Given the description of an element on the screen output the (x, y) to click on. 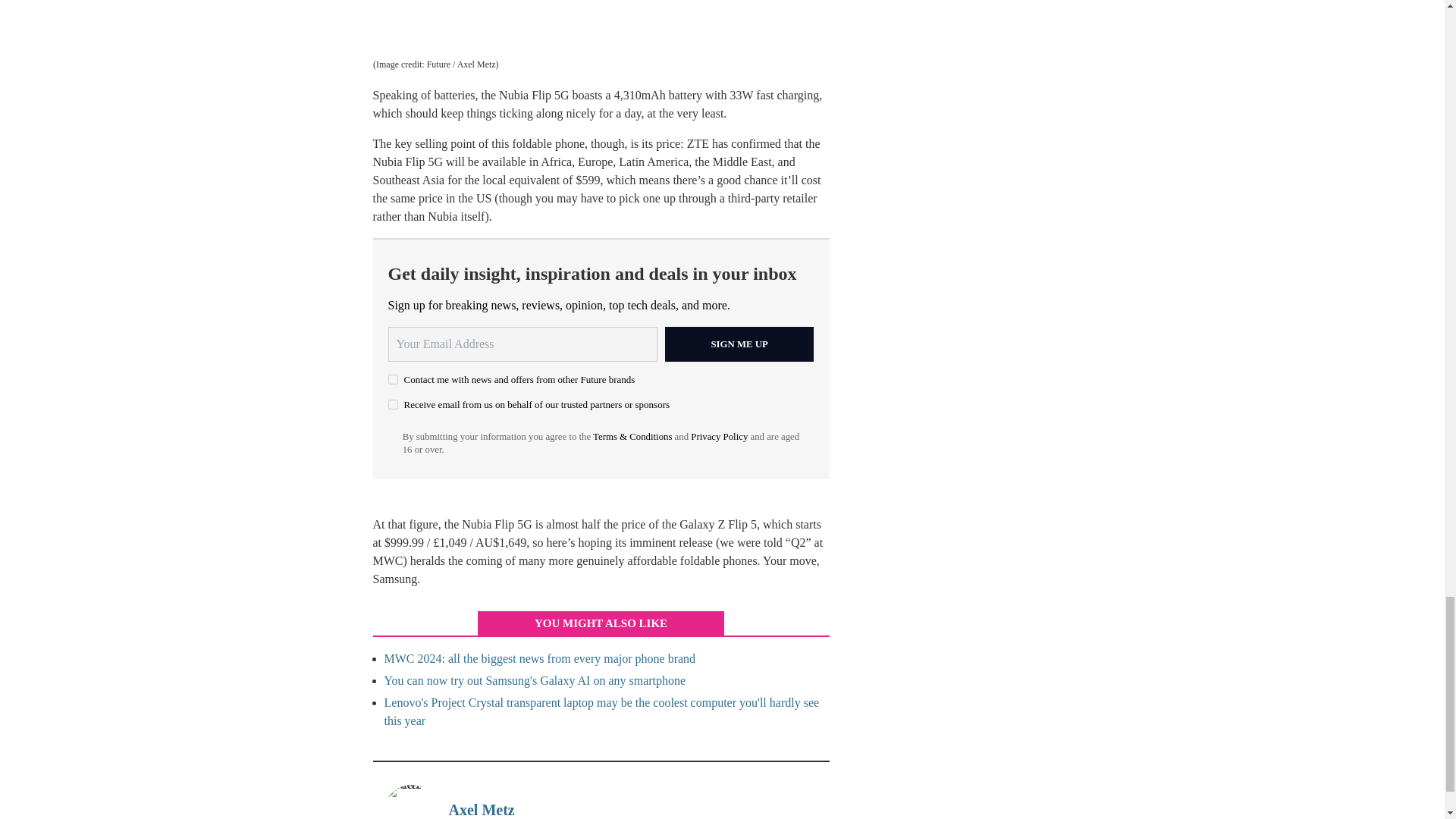
on (392, 379)
Sign me up (739, 343)
on (392, 404)
